Given the description of an element on the screen output the (x, y) to click on. 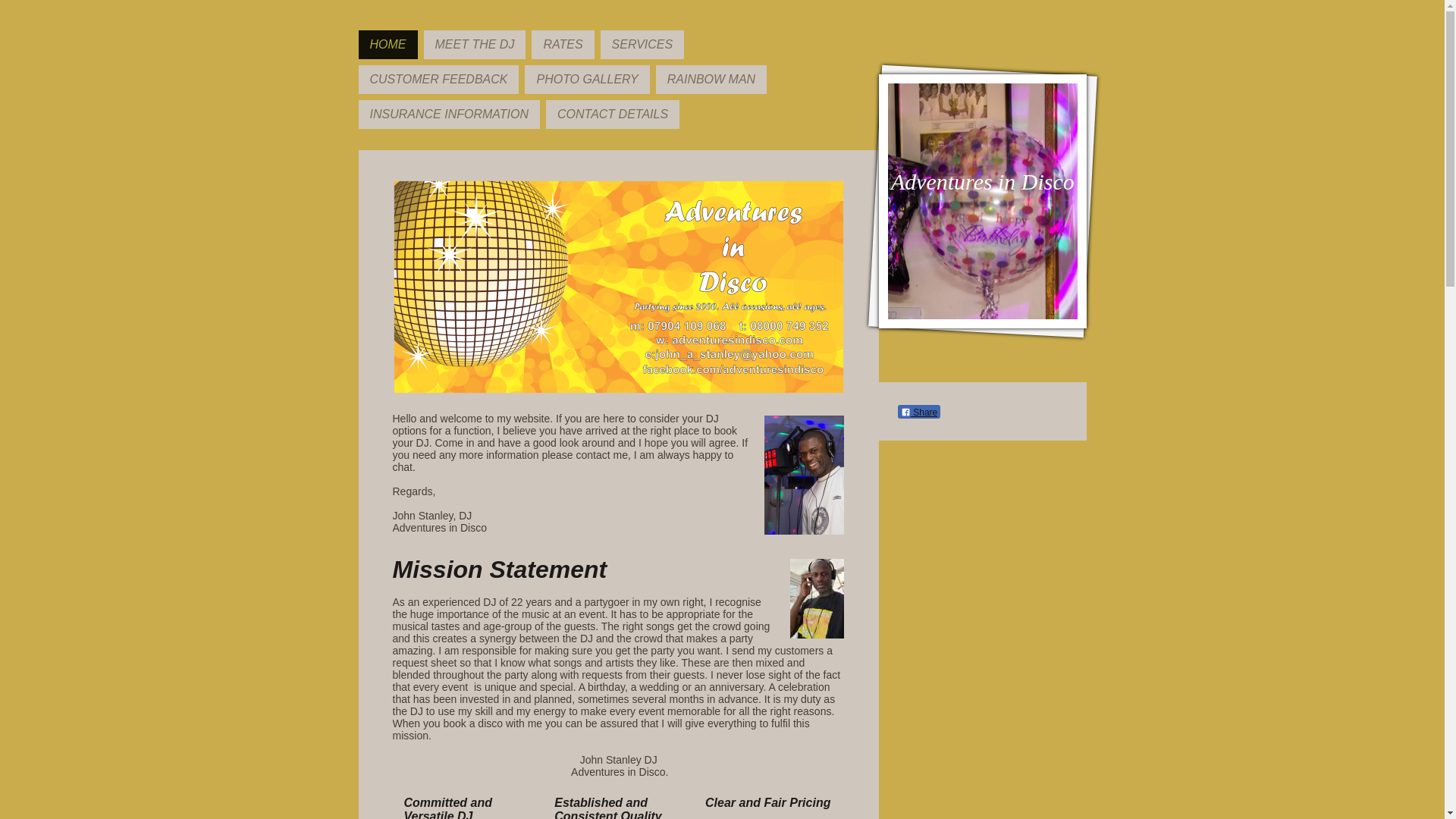
Share (919, 411)
HOME (387, 44)
INSURANCE INFORMATION (448, 113)
CONTACT DETAILS (612, 113)
PHOTO GALLERY (586, 79)
Adventures in Disco (982, 181)
RATES (562, 44)
RAINBOW MAN (711, 79)
CUSTOMER FEEDBACK (438, 79)
MEET THE DJ (474, 44)
